Given the description of an element on the screen output the (x, y) to click on. 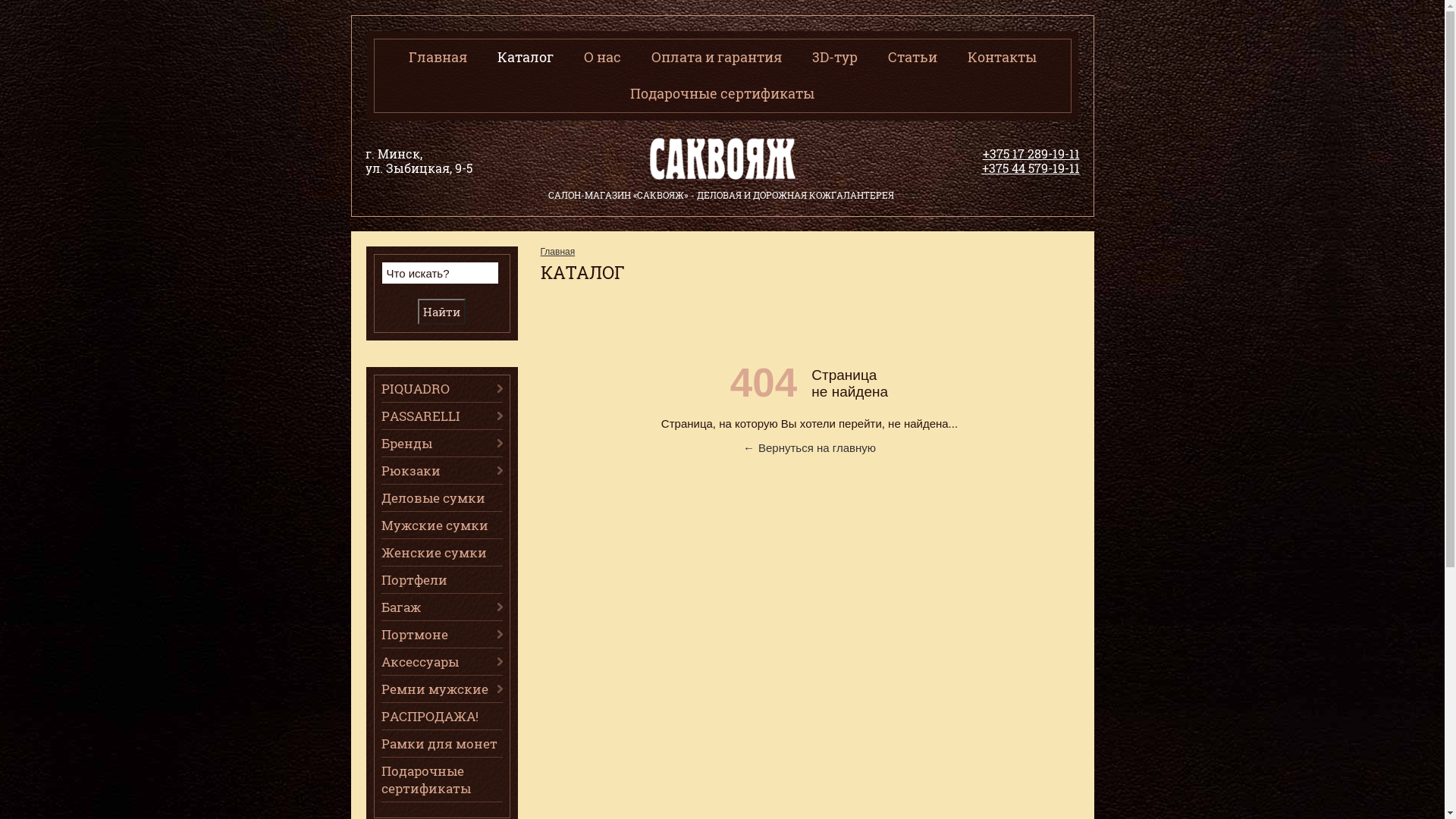
PIQUADRO Element type: text (441, 388)
+375 17 289-19-11 Element type: text (1030, 153)
+375 44 579-19-11 Element type: text (1030, 167)
PASSARELLI Element type: text (441, 415)
